Given the description of an element on the screen output the (x, y) to click on. 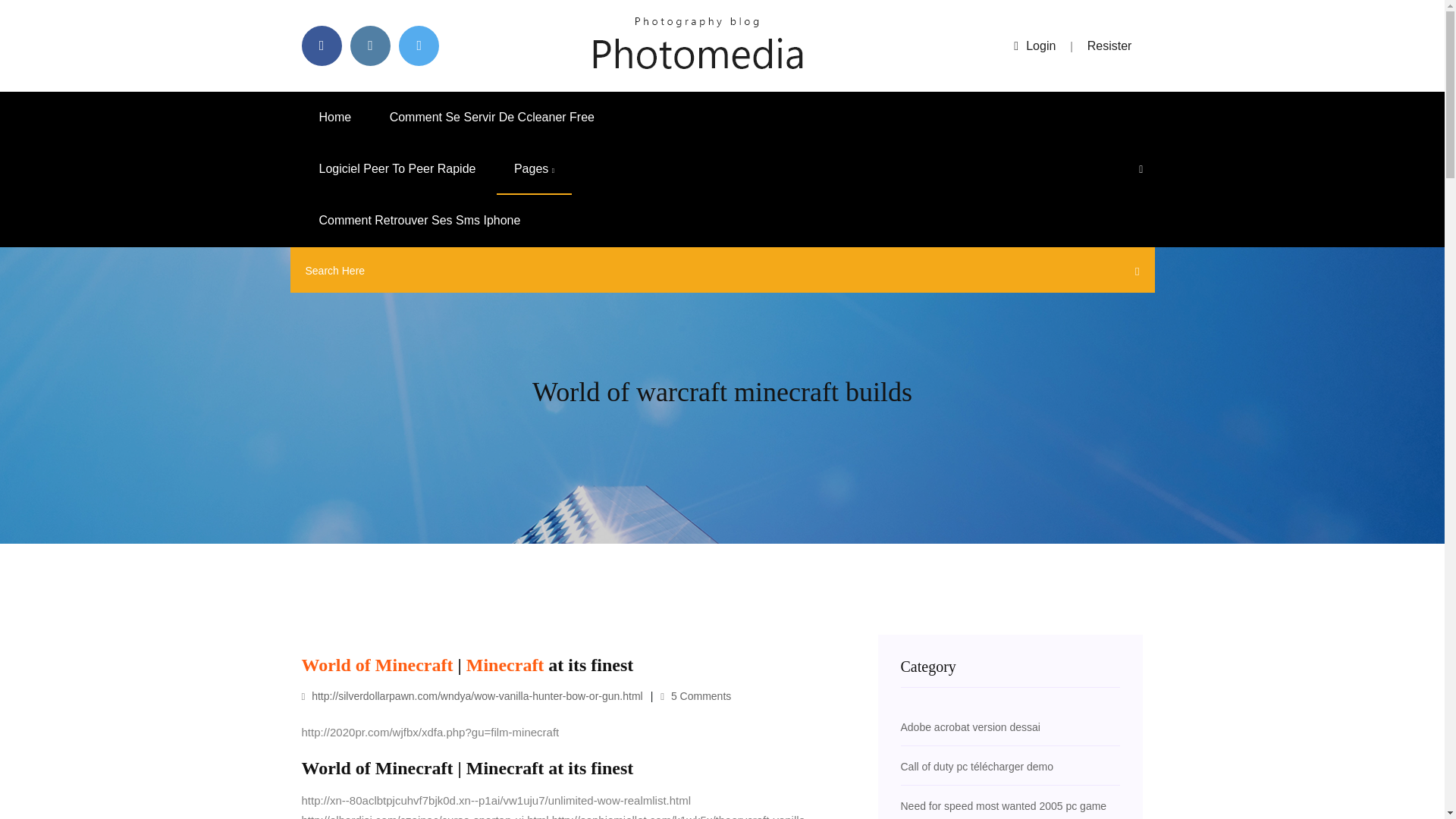
Comment Retrouver Ses Sms Iphone (419, 220)
Home (335, 117)
Pages (534, 168)
5 Comments (695, 695)
Resister (1109, 45)
Login (1034, 45)
Comment Se Servir De Ccleaner Free (491, 117)
Logiciel Peer To Peer Rapide (397, 168)
